Given the description of an element on the screen output the (x, y) to click on. 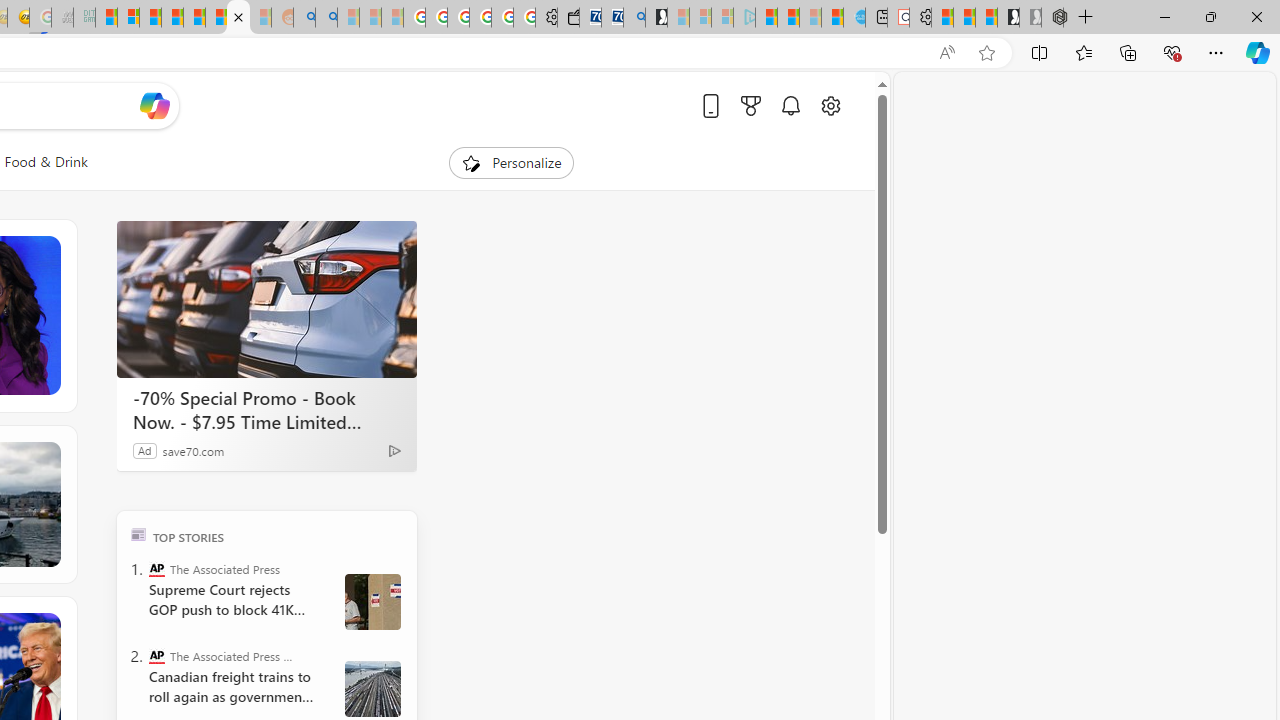
Student Loan Update: Forgiveness Program Ends This Month (172, 17)
Kinda Frugal - MSN (216, 17)
FOX News - MSN (238, 17)
